Given the description of an element on the screen output the (x, y) to click on. 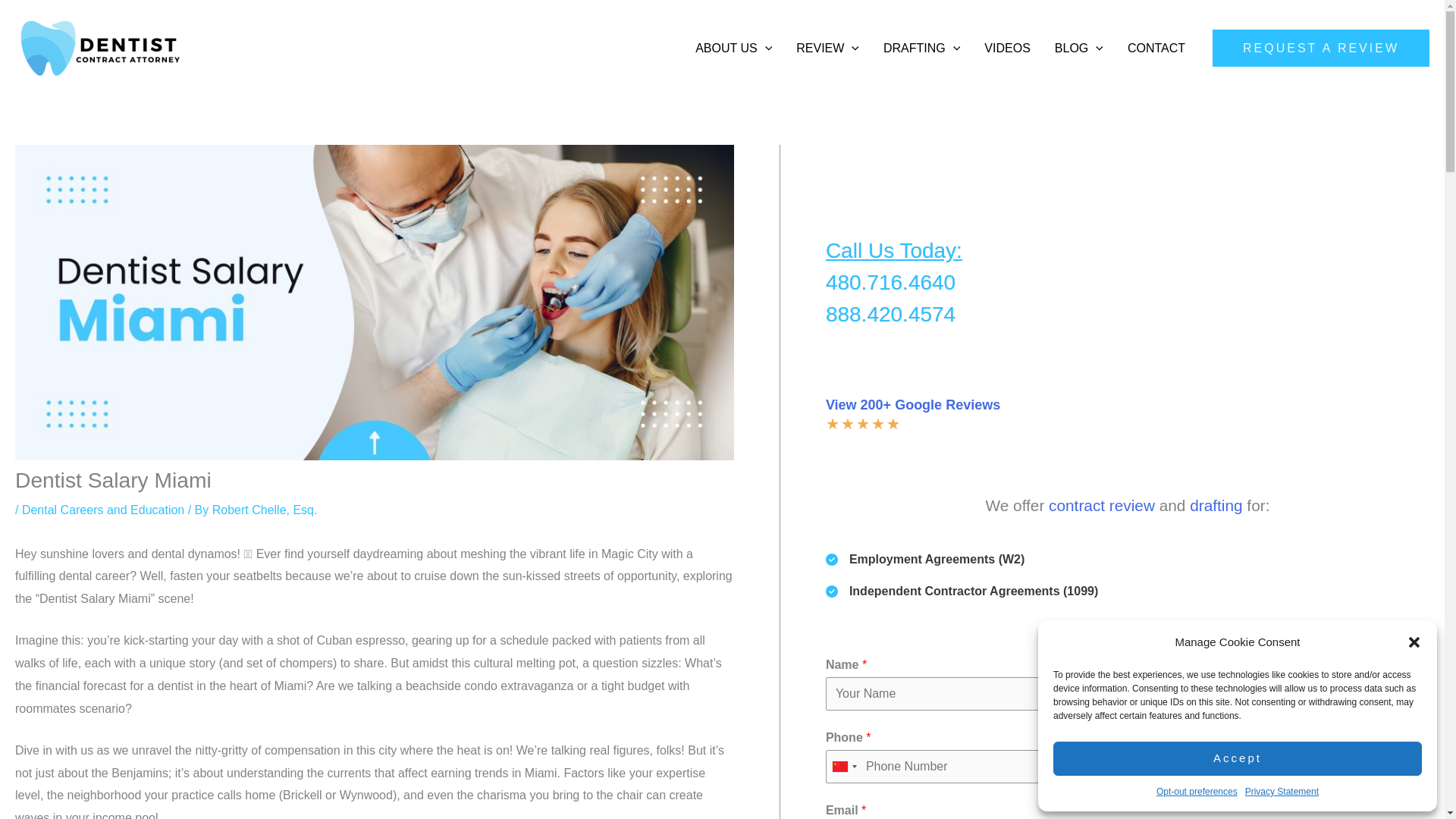
DRAFTING (921, 48)
BLOG (1078, 48)
REVIEW (827, 48)
View all posts by Robert Chelle, Esq. (264, 509)
Privacy Statement (1281, 791)
Opt-out preferences (1196, 791)
ABOUT US (733, 48)
VIDEOS (1007, 48)
Accept (1237, 758)
